Given the description of an element on the screen output the (x, y) to click on. 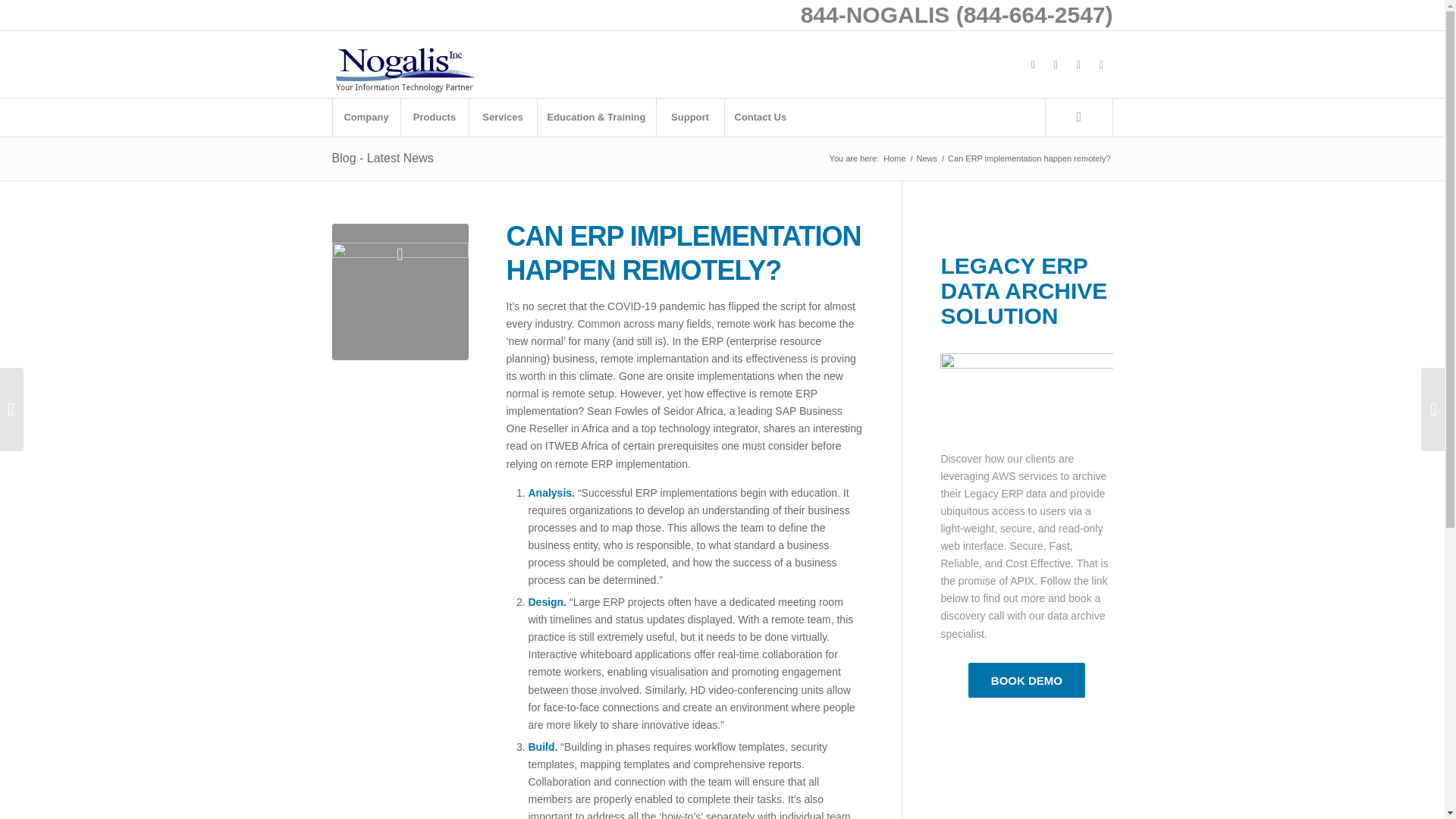
Services (502, 117)
Facebook (1033, 64)
Home (893, 158)
News (927, 158)
Mail (1101, 64)
Products (434, 117)
logo with slogan good (404, 64)
Nogalis, Inc. (893, 158)
Company (365, 117)
LEGACY ERP DATA ARCHIVE SOLUTION (1023, 290)
BOOK DEMO (1026, 680)
X (1056, 64)
Book a time to discuss your project with an expert (1026, 680)
LinkedIn (1078, 64)
Permanent Link: Blog - Latest News (382, 157)
